Given the description of an element on the screen output the (x, y) to click on. 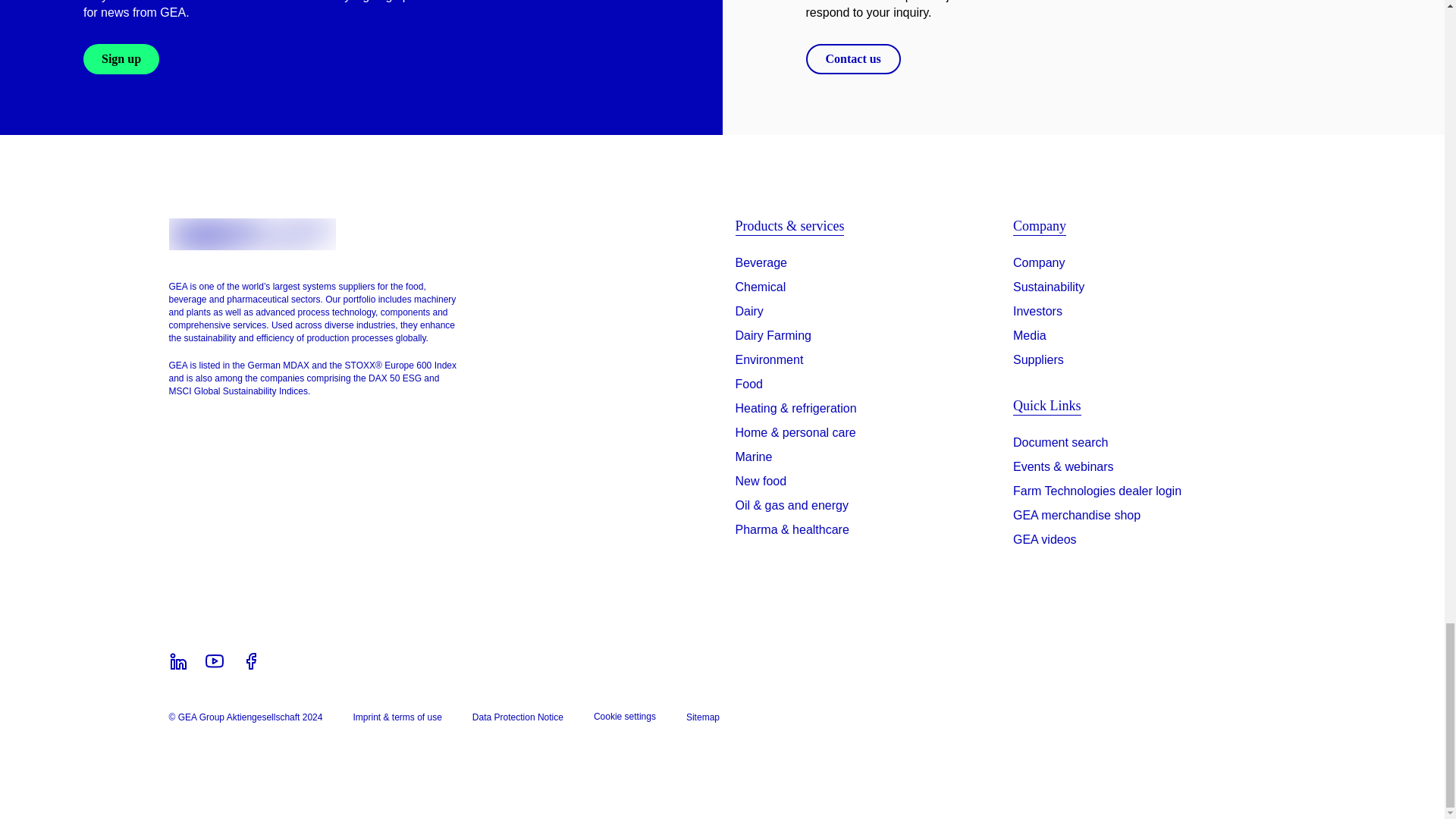
Suppliers (1038, 360)
Media (1029, 335)
videos (1045, 542)
Company (1038, 262)
Sustainability (1048, 287)
Search (1060, 445)
Investors (1037, 311)
Events (1063, 469)
